Given the description of an element on the screen output the (x, y) to click on. 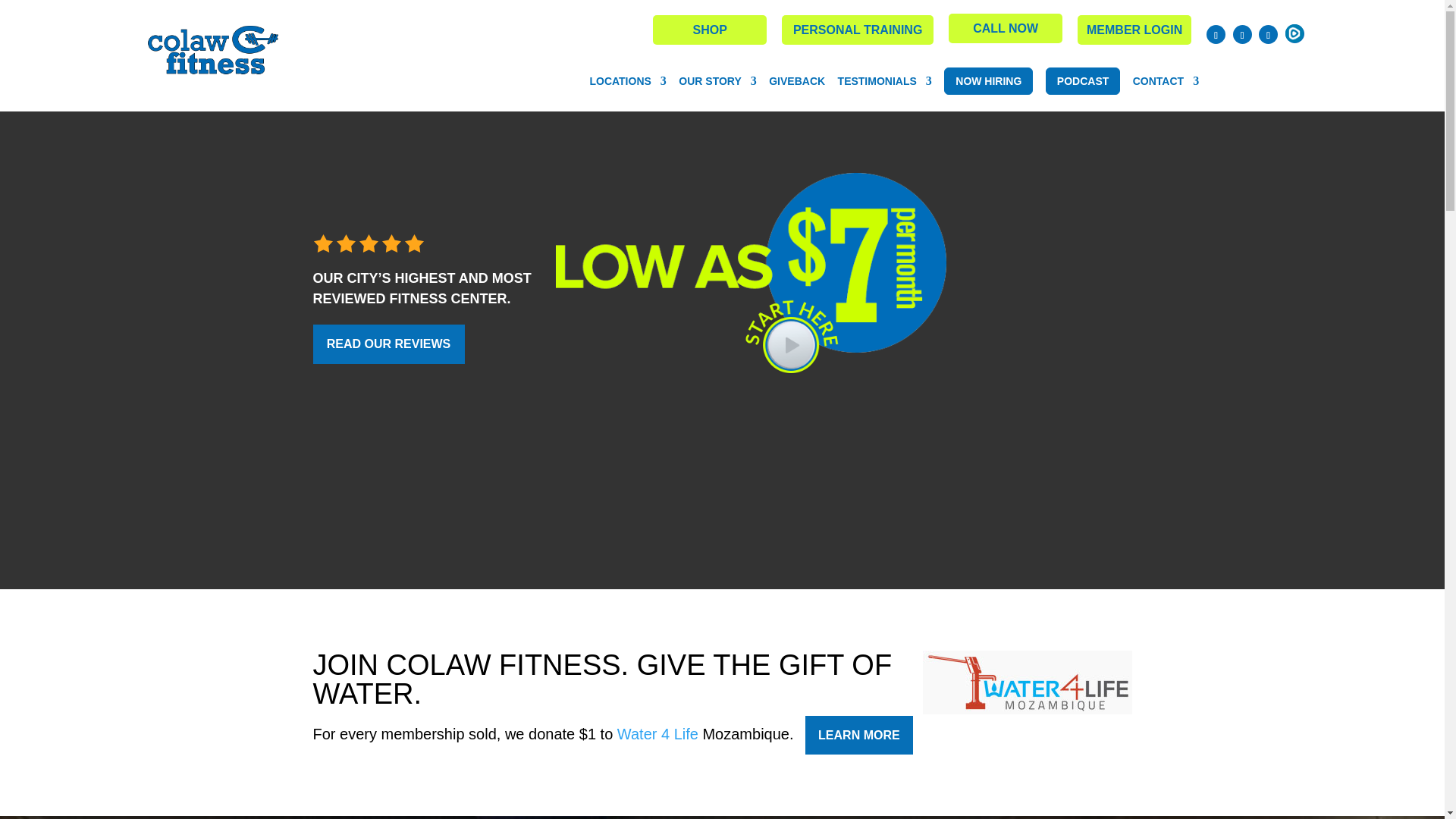
Water 4 Life (657, 733)
READ OUR REVIEWS (388, 343)
MEMBER LOGIN (1134, 30)
OUR STORY (716, 81)
PODCAST (1082, 81)
CONTACT (1165, 81)
GIVEBACK (796, 81)
LEARN MORE (858, 735)
CALL NOW (1005, 28)
PERSONAL TRAINING (857, 30)
NOW HIRING (987, 81)
LOCATIONS (627, 81)
SHOP (709, 30)
TESTIMONIALS (884, 81)
